Given the description of an element on the screen output the (x, y) to click on. 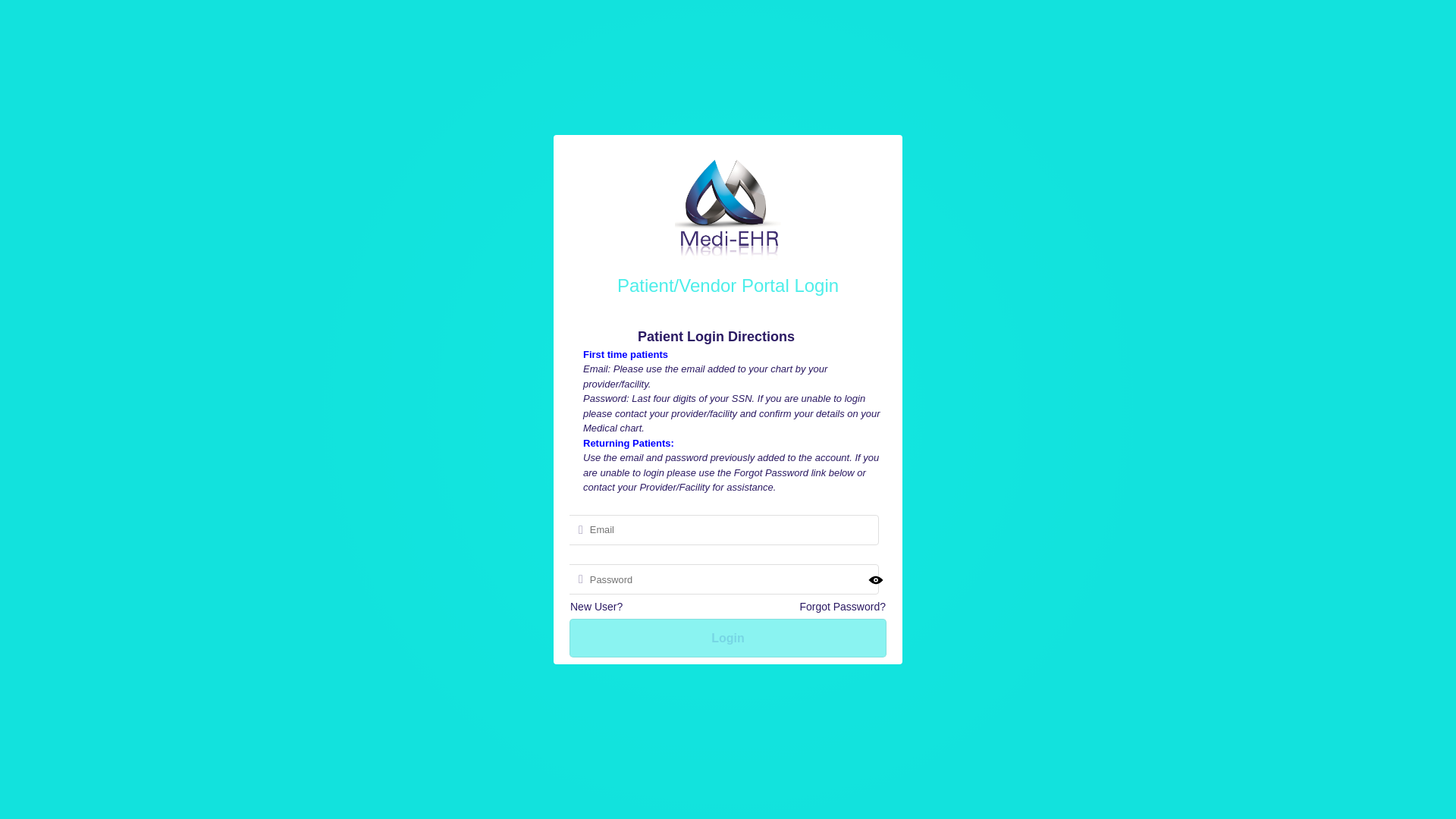
New User? (604, 604)
Forgot Password? (837, 601)
Login (731, 635)
